Given the description of an element on the screen output the (x, y) to click on. 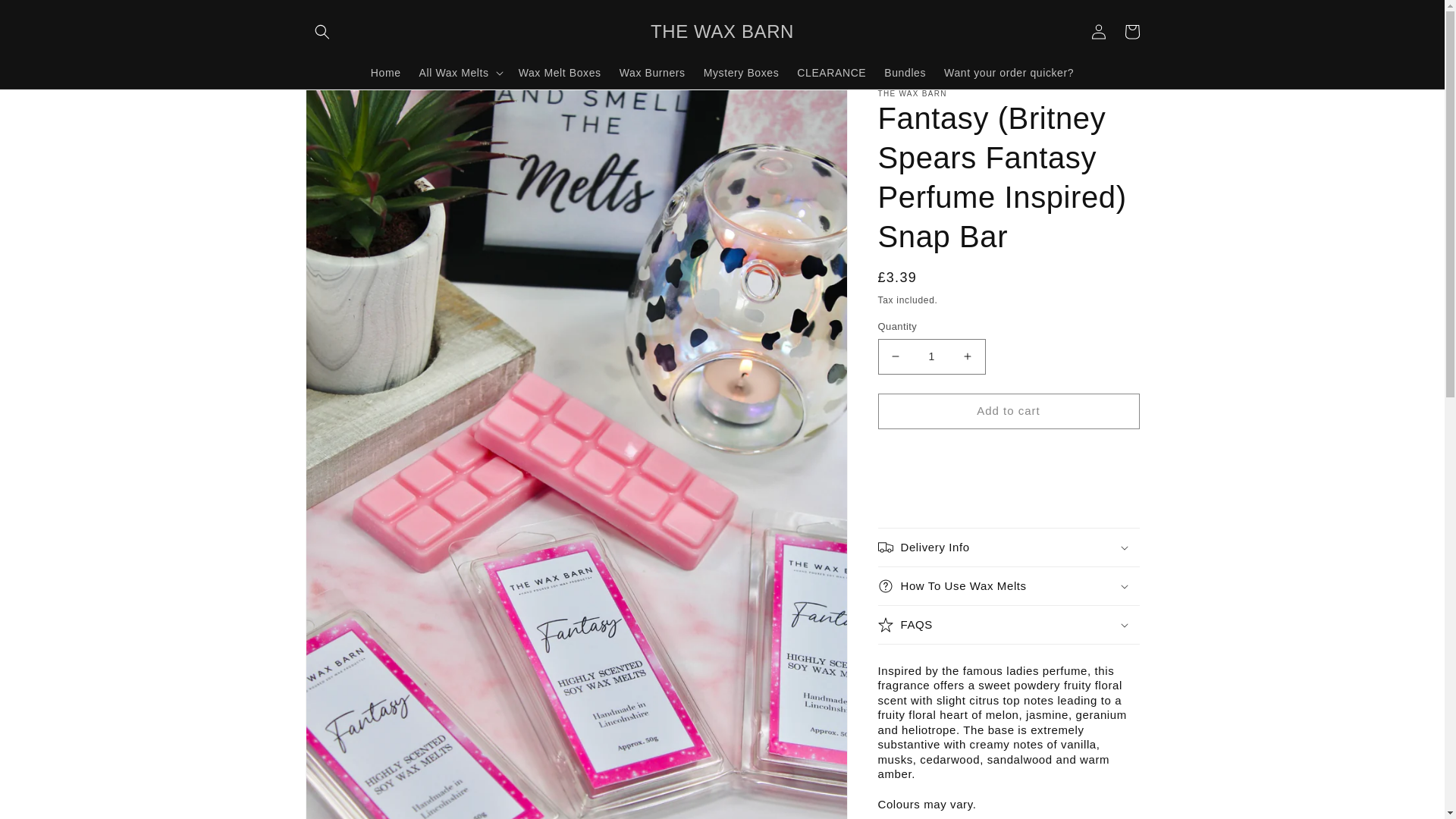
1 (931, 356)
Skip to content (45, 17)
Home (385, 71)
THE WAX BARN (722, 30)
